Given the description of an element on the screen output the (x, y) to click on. 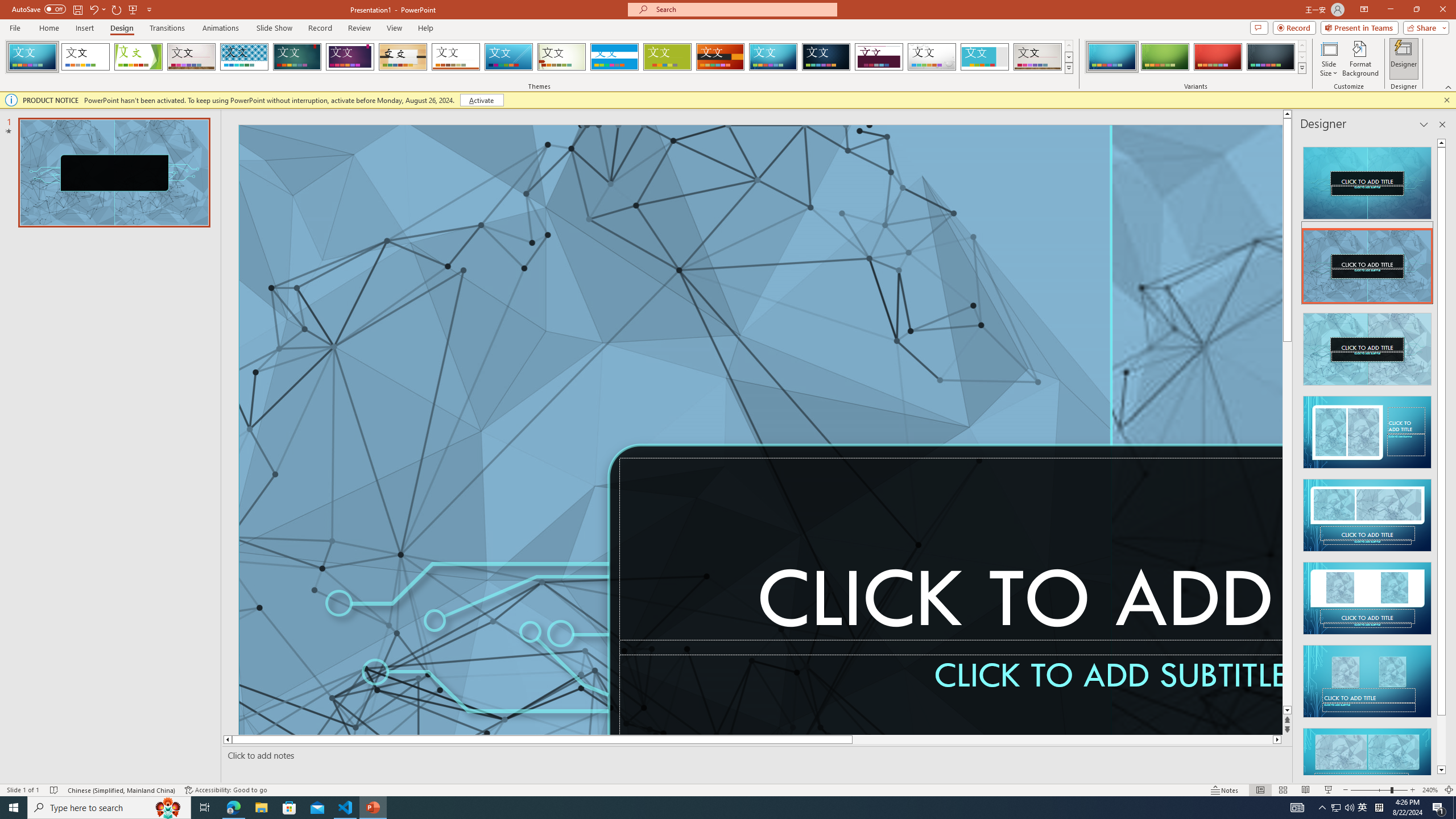
Activate (481, 100)
AutomationID: SlideThemesGallery (539, 56)
Berlin (720, 56)
Circuit Variant 4 (1270, 56)
An abstract genetic concept (1197, 429)
